Given the description of an element on the screen output the (x, y) to click on. 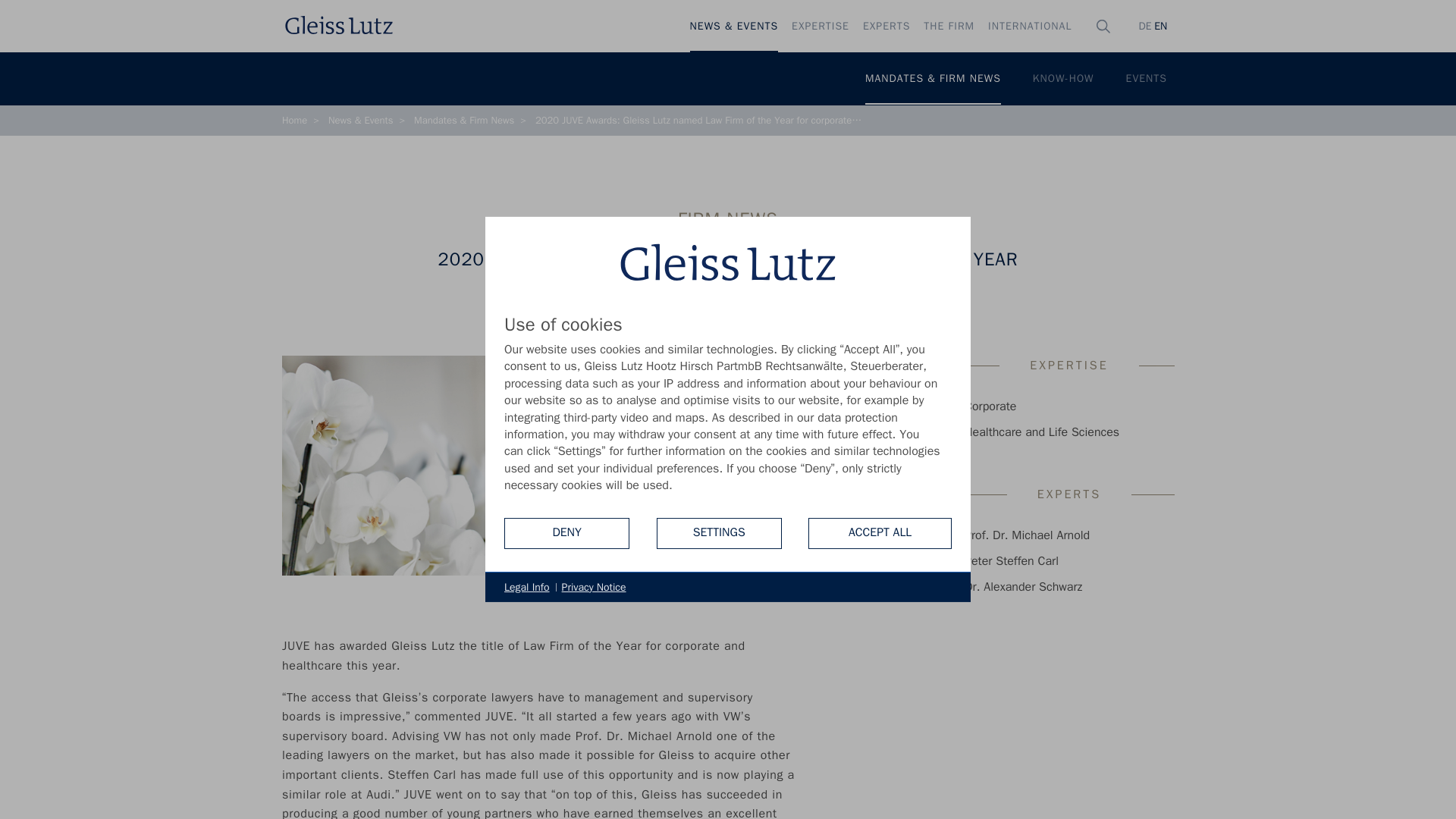
INTERNATIONAL (1029, 26)
DEUTSCH (1143, 26)
Corporate (989, 406)
THE FIRM (949, 26)
Healthcare and Life Sciences (1041, 432)
EXPERTS (886, 26)
Peter Steffen Carl (1010, 561)
EXPERTISE (820, 26)
EVENTS (1146, 78)
Search (1109, 96)
Dr. Alexander Schwarz (1022, 587)
KNOW-HOW (1063, 78)
Home (294, 120)
ENGLISH (1159, 26)
Prof. Dr. Michael Arnold (1026, 535)
